Given the description of an element on the screen output the (x, y) to click on. 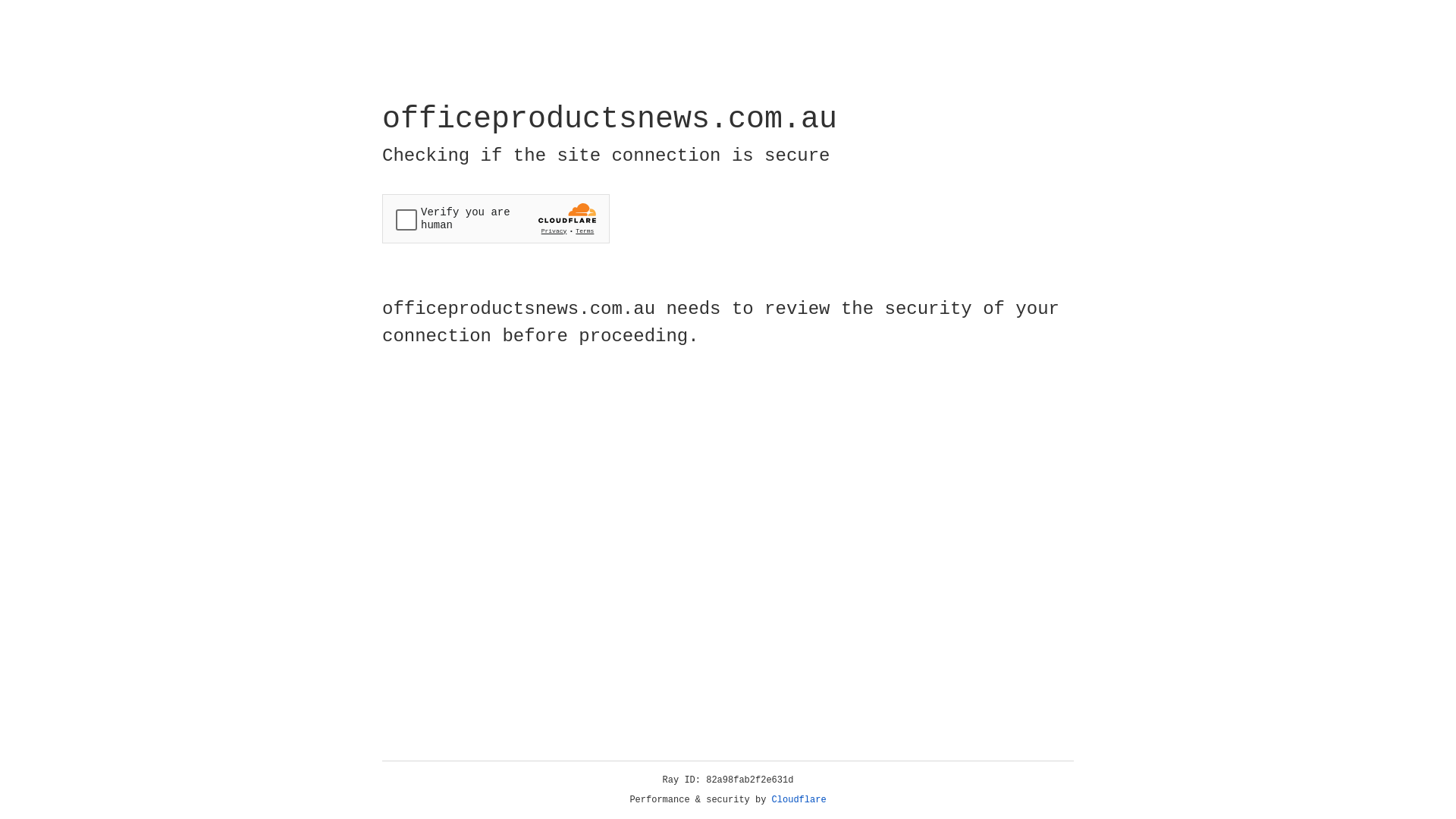
Widget containing a Cloudflare security challenge Element type: hover (495, 218)
Cloudflare Element type: text (798, 799)
